Given the description of an element on the screen output the (x, y) to click on. 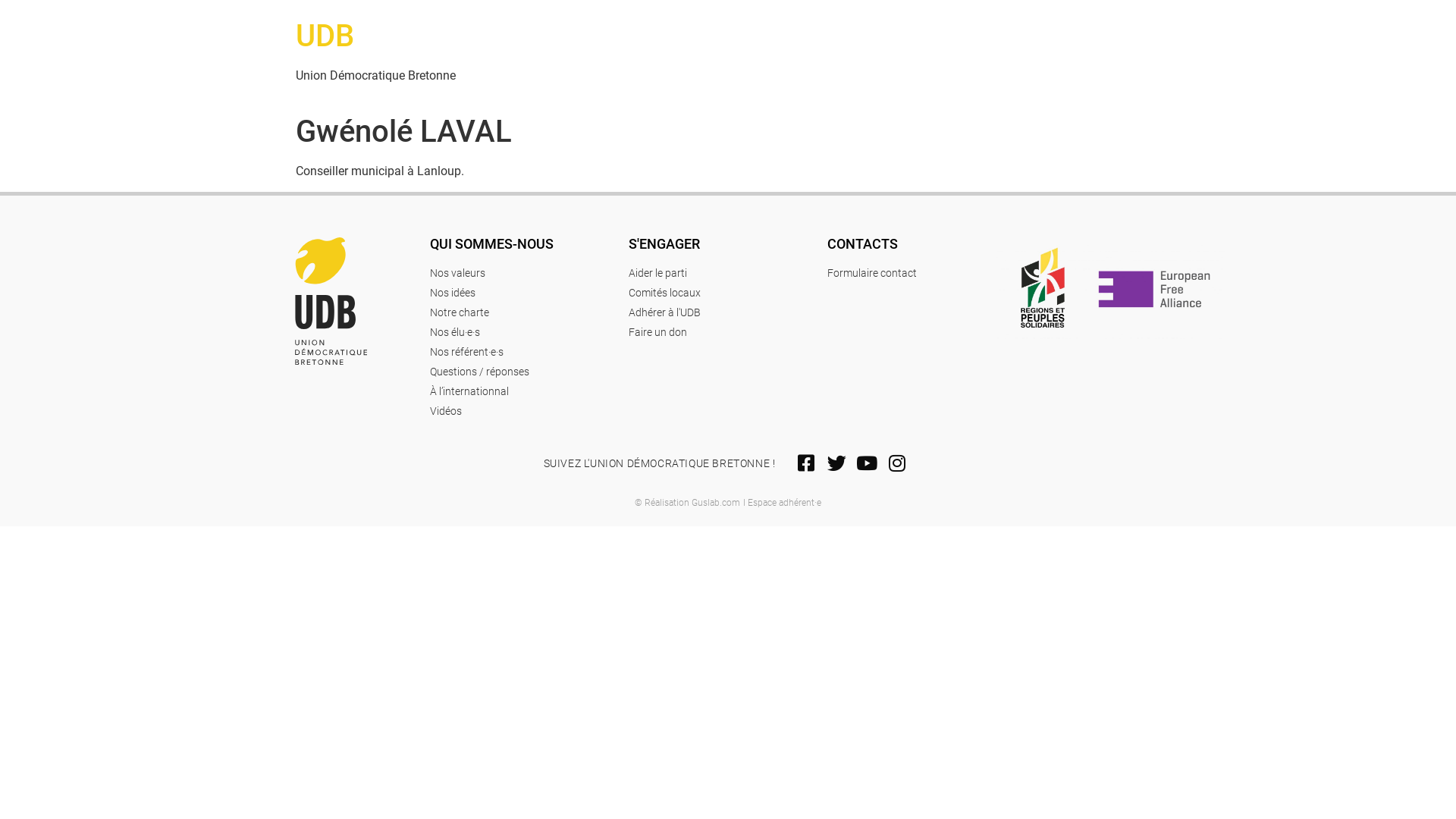
Notre charte Element type: text (528, 312)
QUI SOMMES-NOUS Element type: text (491, 243)
Aider le parti Element type: text (727, 273)
Formulaire contact Element type: text (911, 273)
Nos valeurs Element type: text (528, 273)
CONTACTS Element type: text (862, 243)
Faire un don Element type: text (727, 332)
UDB Element type: text (324, 35)
S'ENGAGER Element type: text (663, 243)
